Given the description of an element on the screen output the (x, y) to click on. 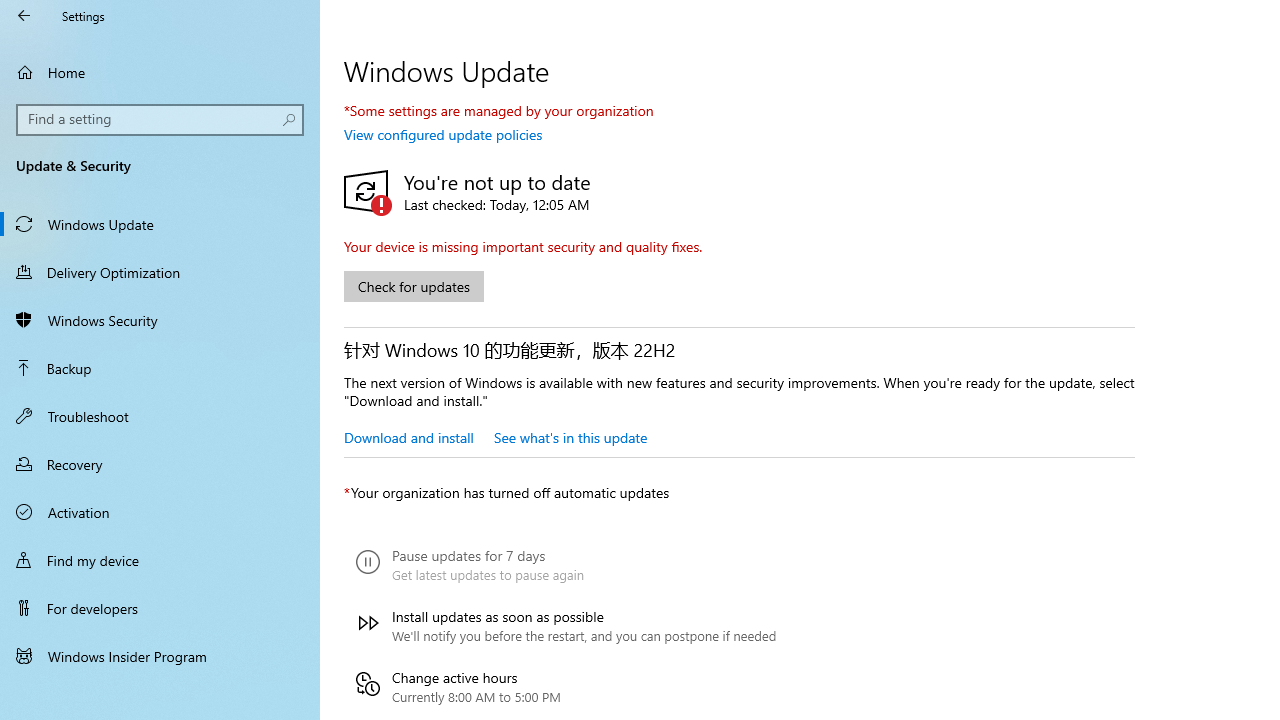
Troubleshoot (160, 415)
Windows Security (160, 319)
Check for updates (413, 285)
Recovery (160, 463)
Install updates as soon as possible (566, 626)
